Given the description of an element on the screen output the (x, y) to click on. 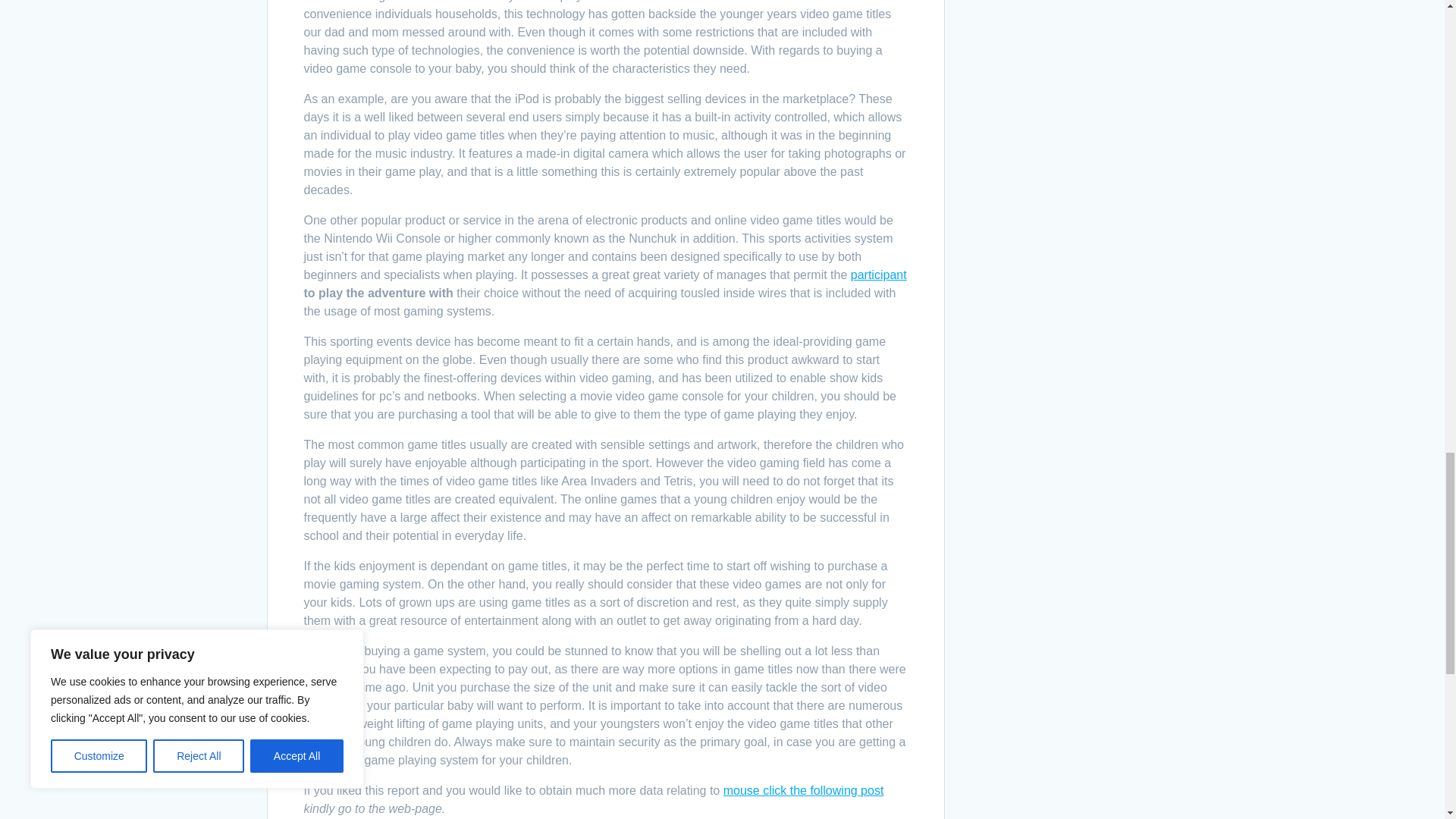
mouse click the following post (803, 789)
participant (878, 274)
